Given the description of an element on the screen output the (x, y) to click on. 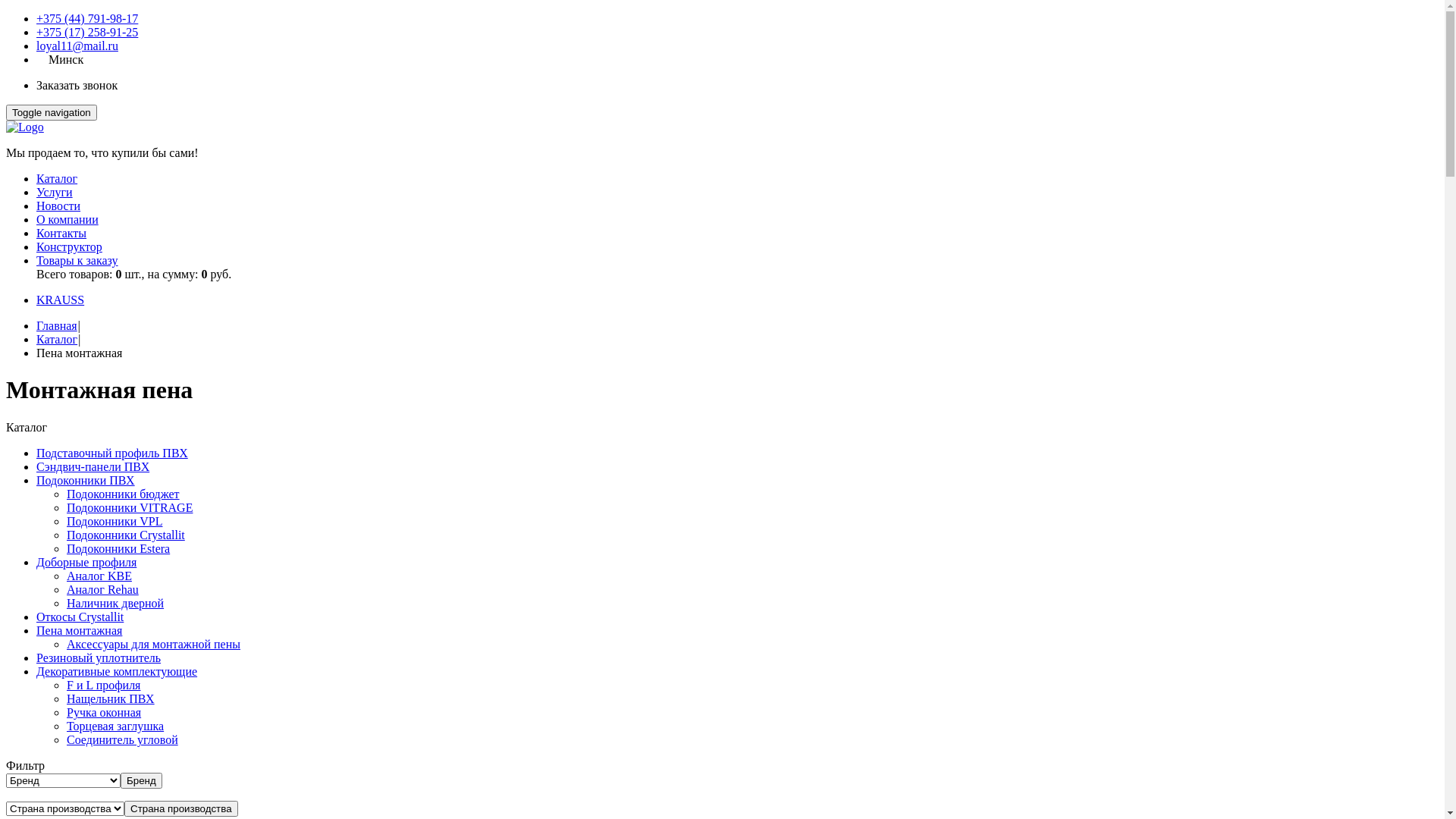
loyal11@mail.ru Element type: text (77, 45)
+375 (44) 791-98-17 Element type: text (87, 18)
+375 (17) 258-91-25 Element type: text (87, 31)
Toggle navigation Element type: text (51, 112)
KRAUSS Element type: text (60, 299)
